Given the description of an element on the screen output the (x, y) to click on. 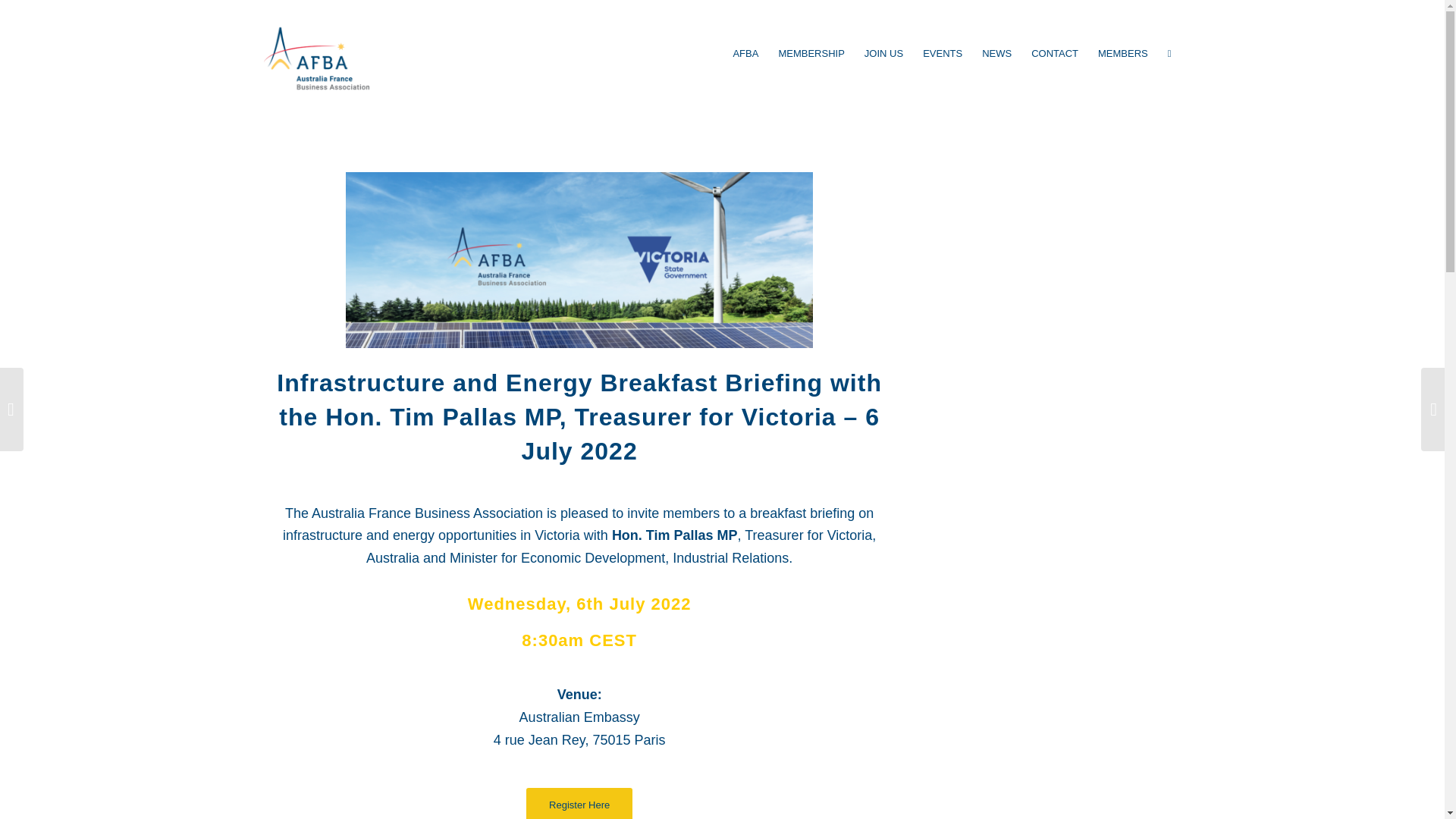
Register Here (578, 803)
